Given the description of an element on the screen output the (x, y) to click on. 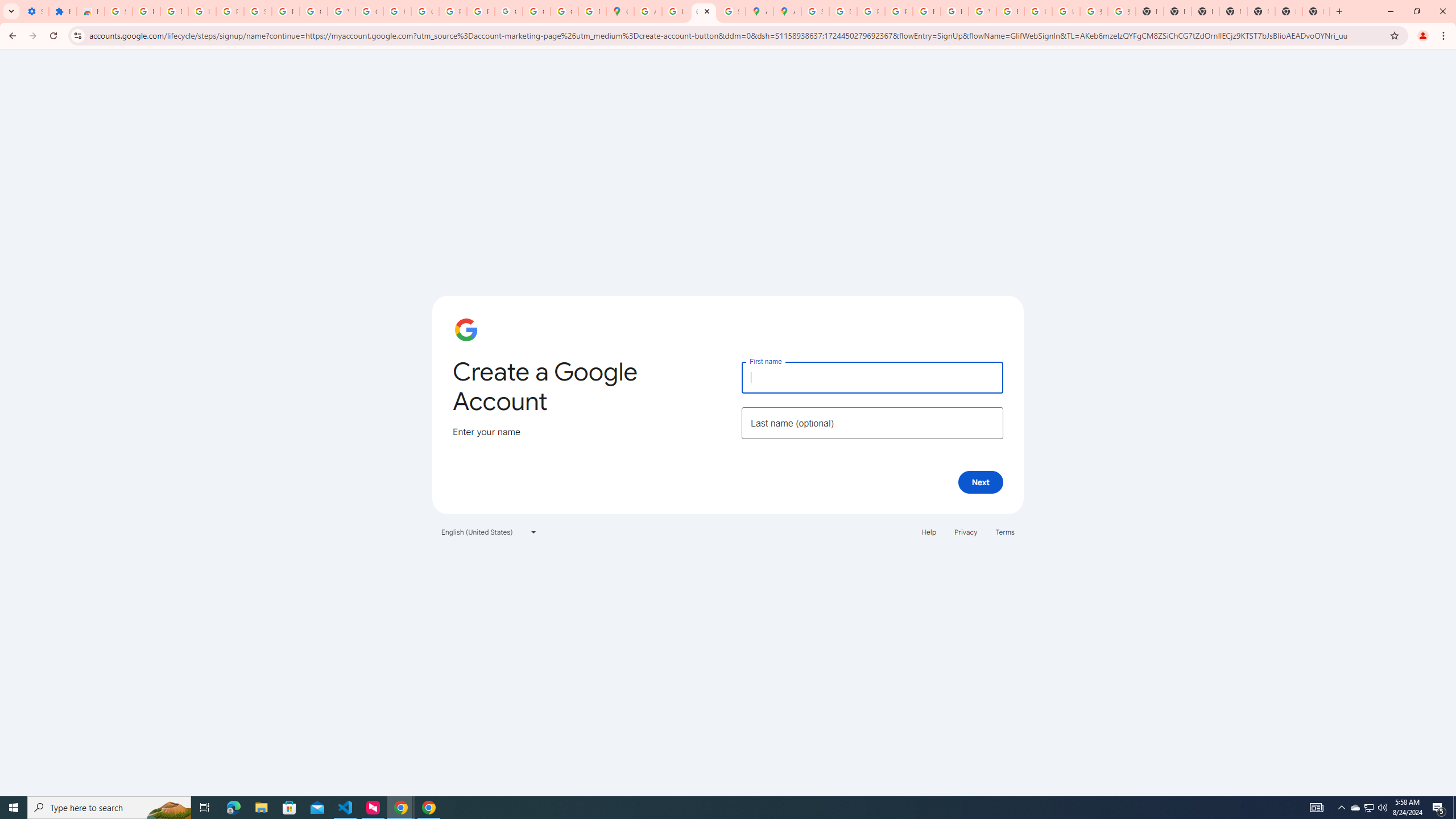
YouTube (982, 11)
First name (871, 376)
Create your Google Account (703, 11)
